Given the description of an element on the screen output the (x, y) to click on. 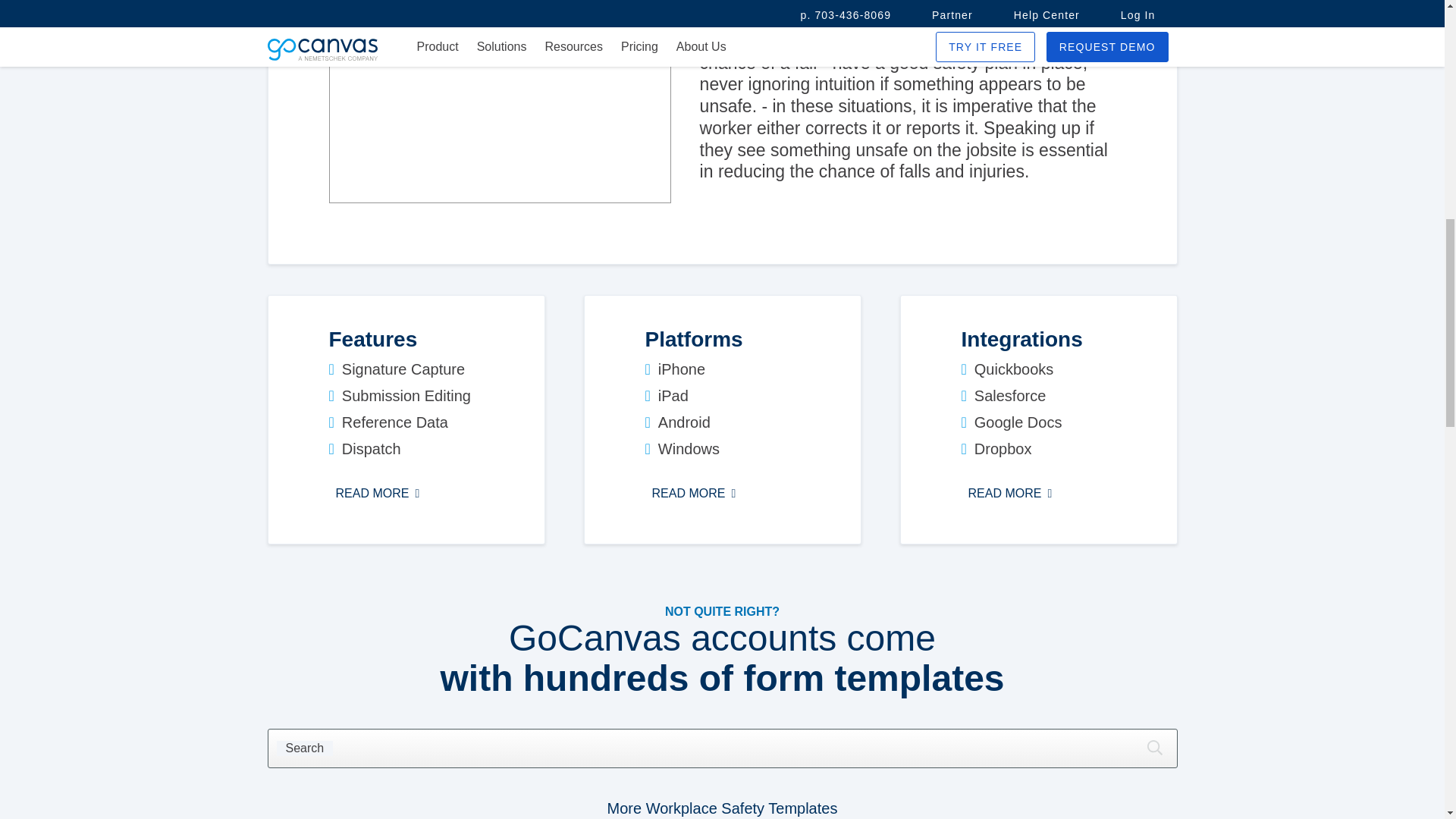
READ MORE (1009, 493)
READ MORE (693, 493)
READ MORE (377, 493)
More Workplace Safety Templates (722, 808)
